Given the description of an element on the screen output the (x, y) to click on. 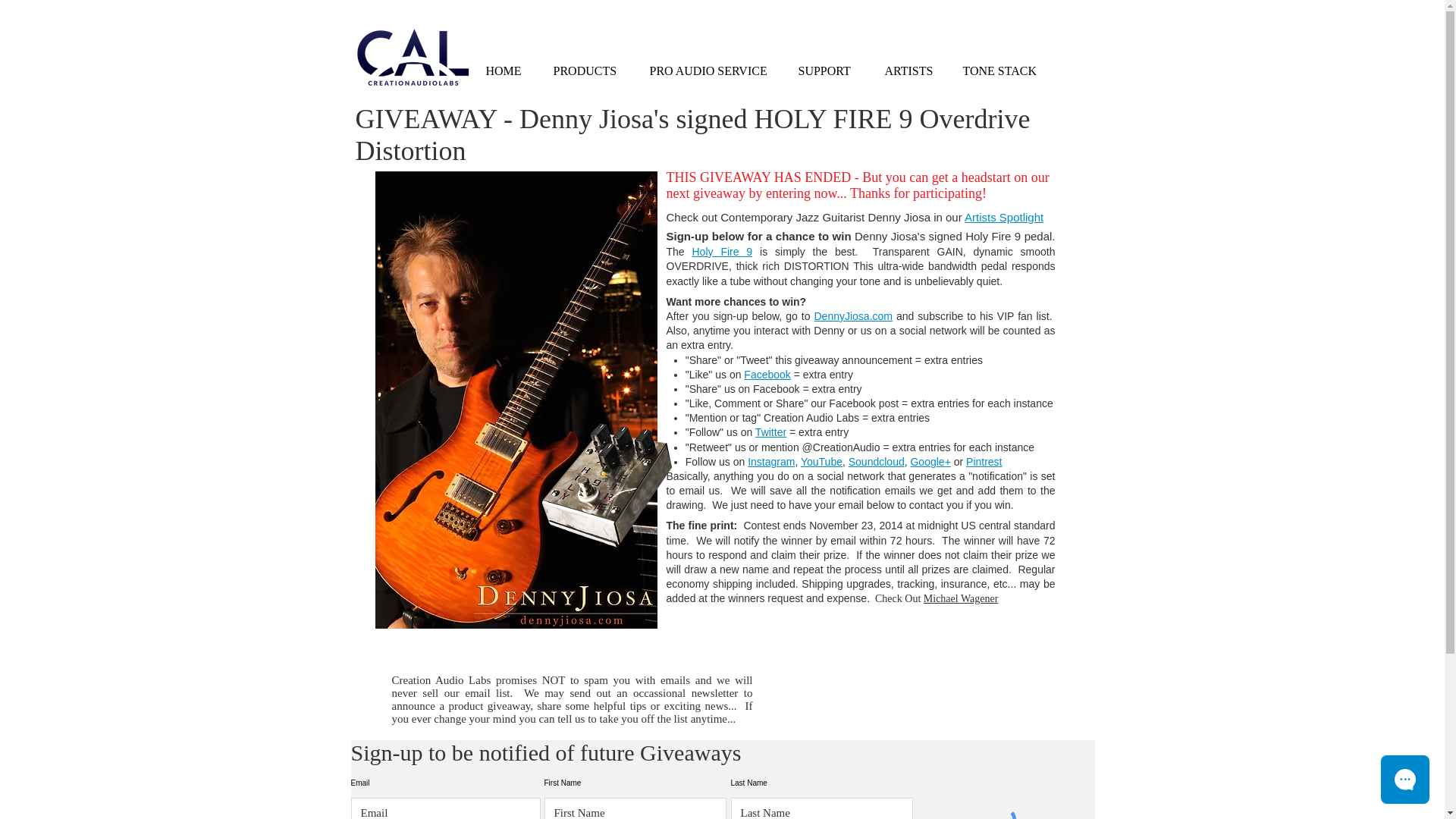
ARTISTS (912, 71)
Artists Spotlight (1003, 216)
Facebook (767, 374)
PRODUCTS (589, 71)
Home (412, 55)
Soundcloud (876, 461)
Pintrest (983, 461)
Instagram (771, 461)
Holy Fire 9 (721, 251)
TONE STACK (1002, 71)
HOME (507, 71)
YouTube (821, 461)
Twitter (770, 431)
DennyJiosa.com (853, 316)
